Given the description of an element on the screen output the (x, y) to click on. 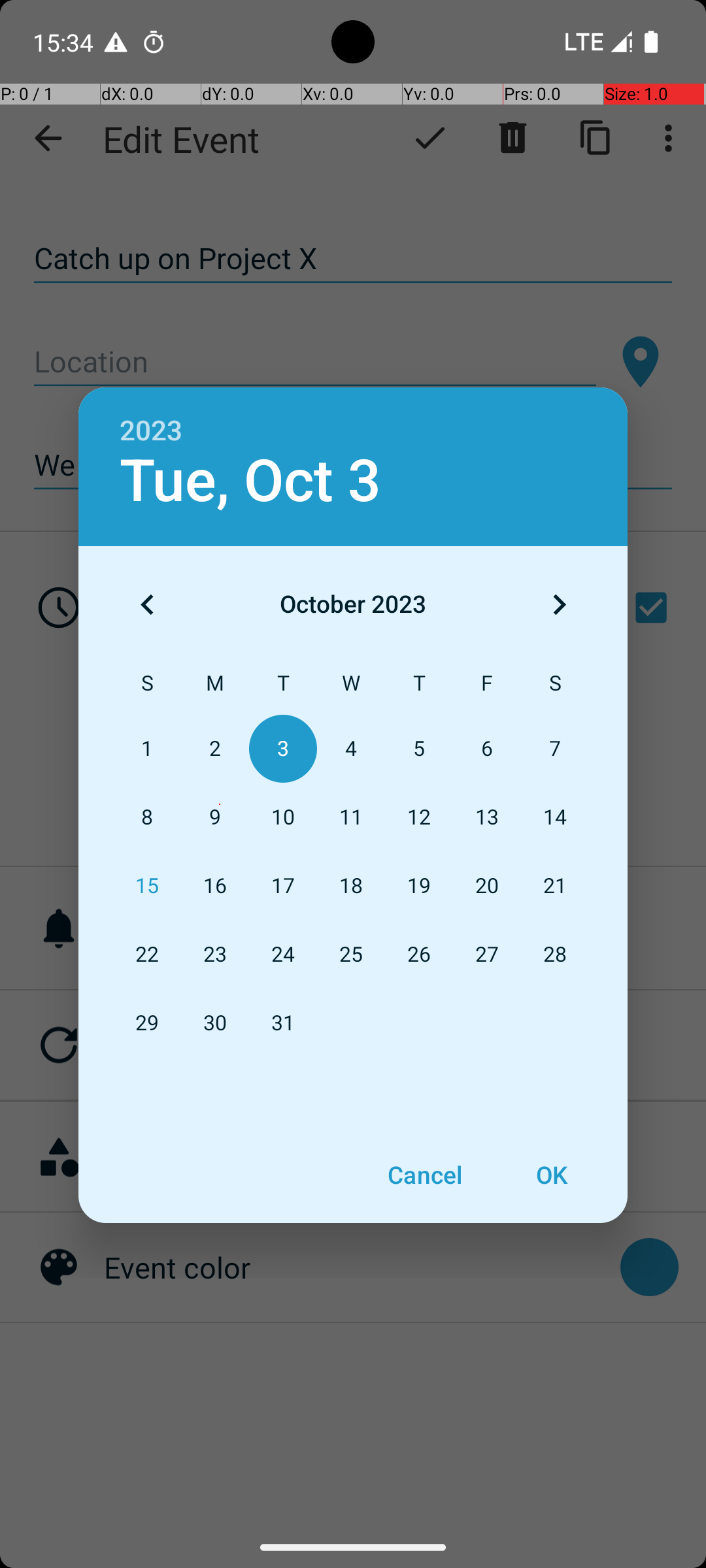
Tue, Oct 3 Element type: android.widget.TextView (250, 480)
